Given the description of an element on the screen output the (x, y) to click on. 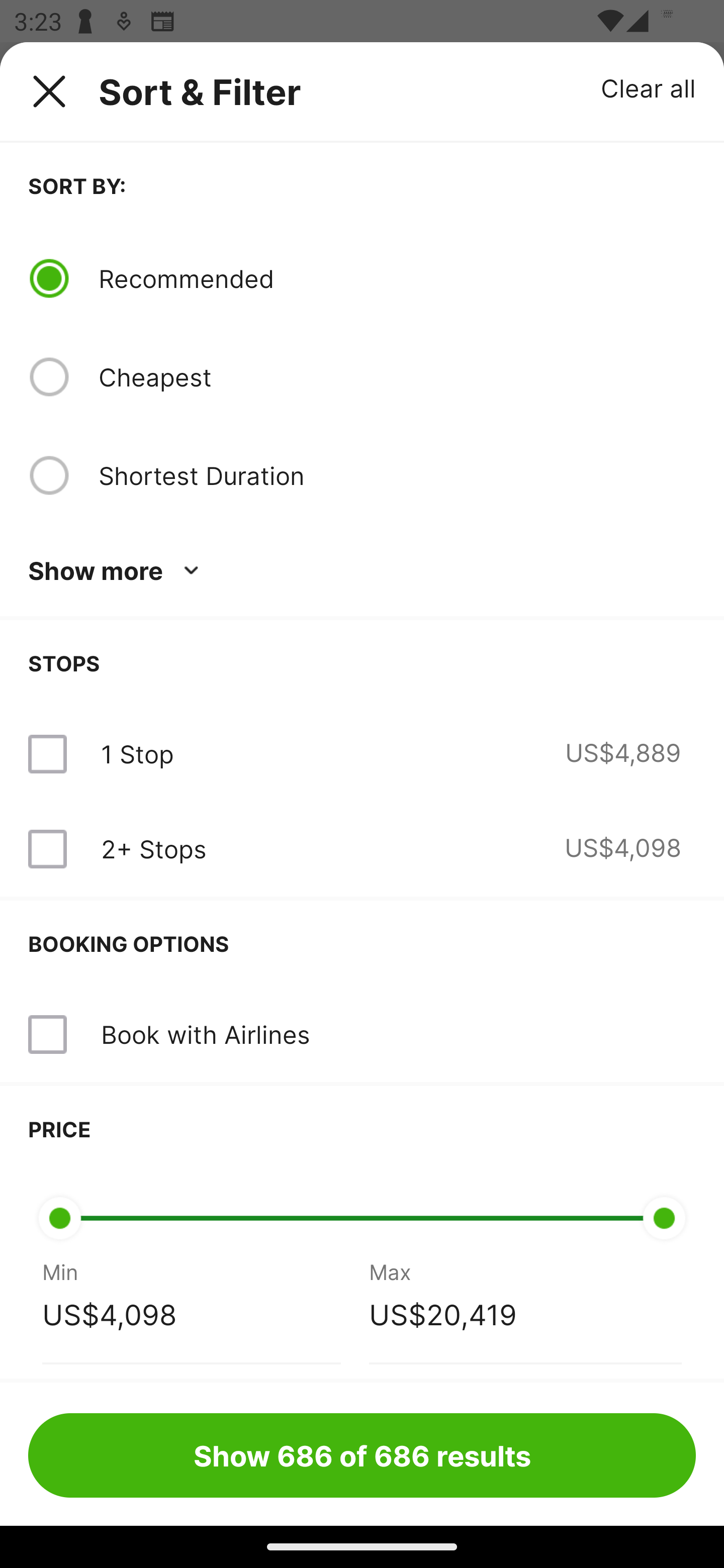
Clear all (648, 87)
Recommended  (396, 278)
Cheapest (396, 377)
Shortest Duration (396, 474)
Show more (116, 570)
1 Stop US$4,889 (362, 754)
1 Stop (136, 753)
2+ Stops US$4,098 (362, 848)
2+ Stops (153, 849)
Book with Airlines (362, 1033)
Book with Airlines (204, 1034)
Show 686 of 686 results (361, 1454)
